Given the description of an element on the screen output the (x, y) to click on. 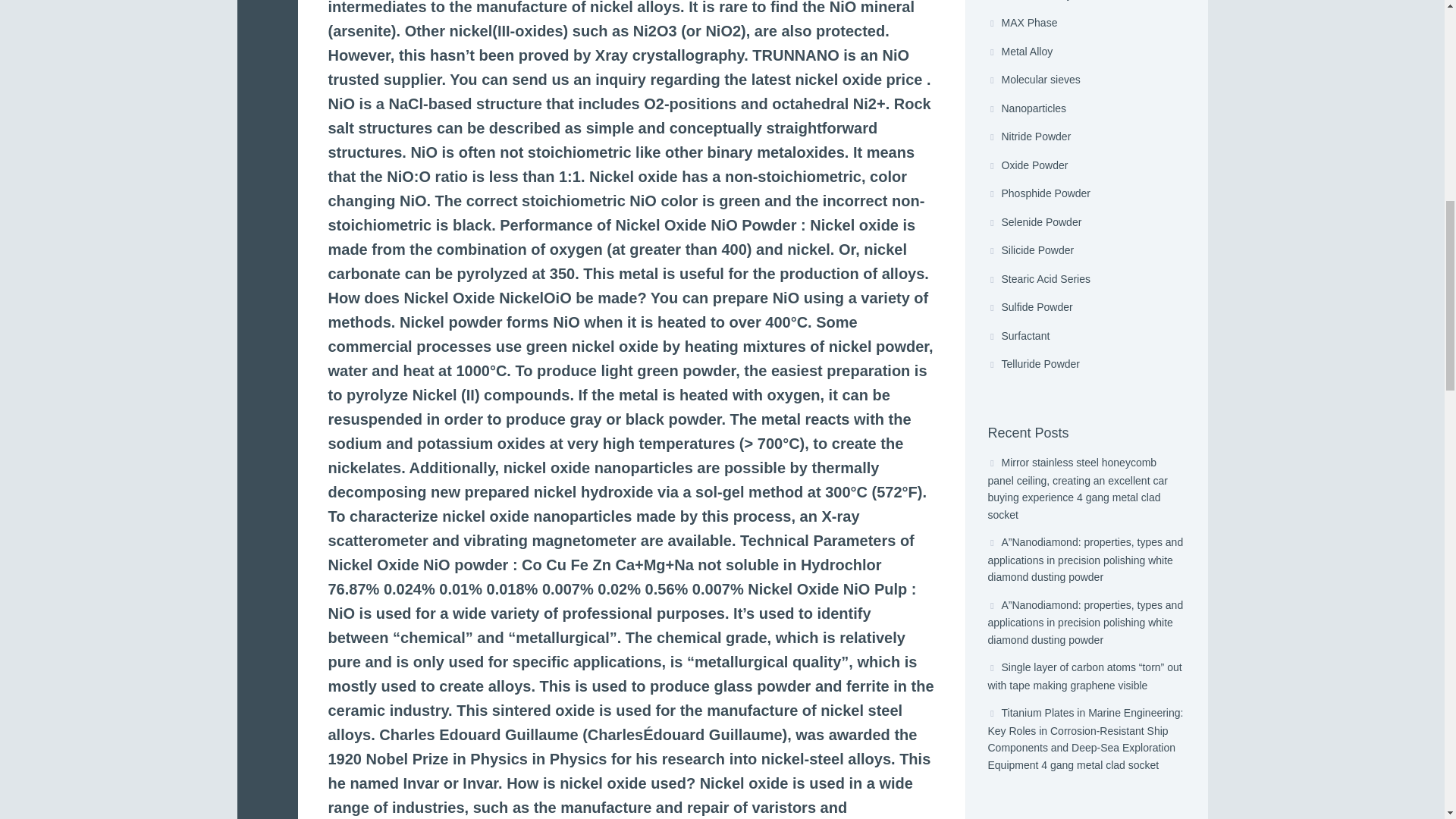
Molecular sieves (1086, 80)
Metal Alloy (1086, 51)
Telluride Powder (1086, 364)
Lithium Battery Anode (1086, 4)
Silicide Powder (1086, 250)
Phosphide Powder (1086, 193)
Selenide Powder (1086, 222)
Sulfide Powder (1086, 307)
Nanoparticles (1086, 109)
